Given the description of an element on the screen output the (x, y) to click on. 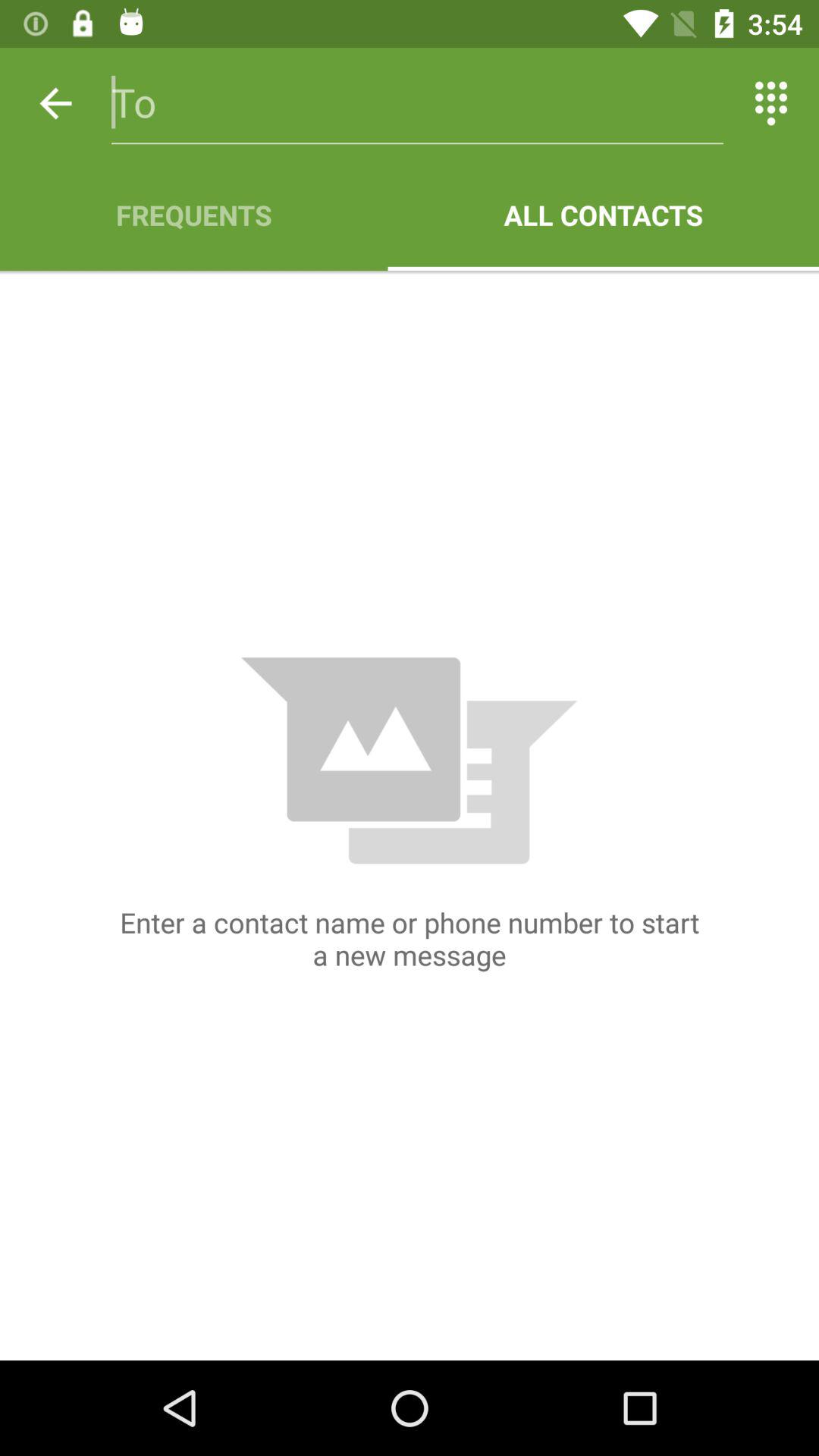
select the item to the right of frequents item (603, 214)
